Given the description of an element on the screen output the (x, y) to click on. 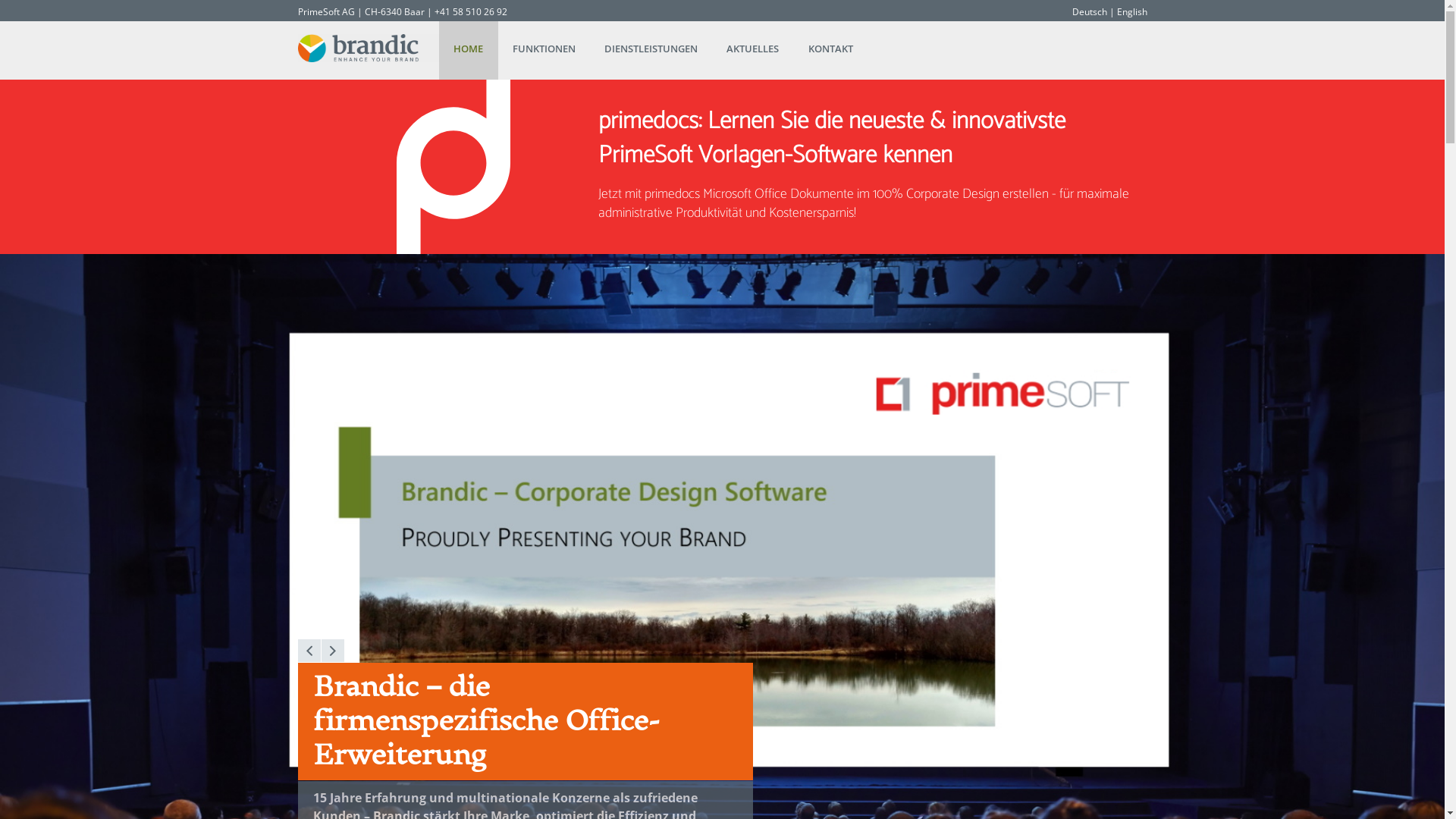
HOME Element type: text (468, 50)
FUNKTIONEN Element type: text (543, 50)
Deutsch | Element type: text (1093, 11)
KONTAKT Element type: text (830, 50)
English Element type: text (1131, 11)
AKTUELLES Element type: text (752, 50)
PrimeSoft AG Element type: text (325, 11)
DIENSTLEISTUNGEN Element type: text (650, 50)
